Given the description of an element on the screen output the (x, y) to click on. 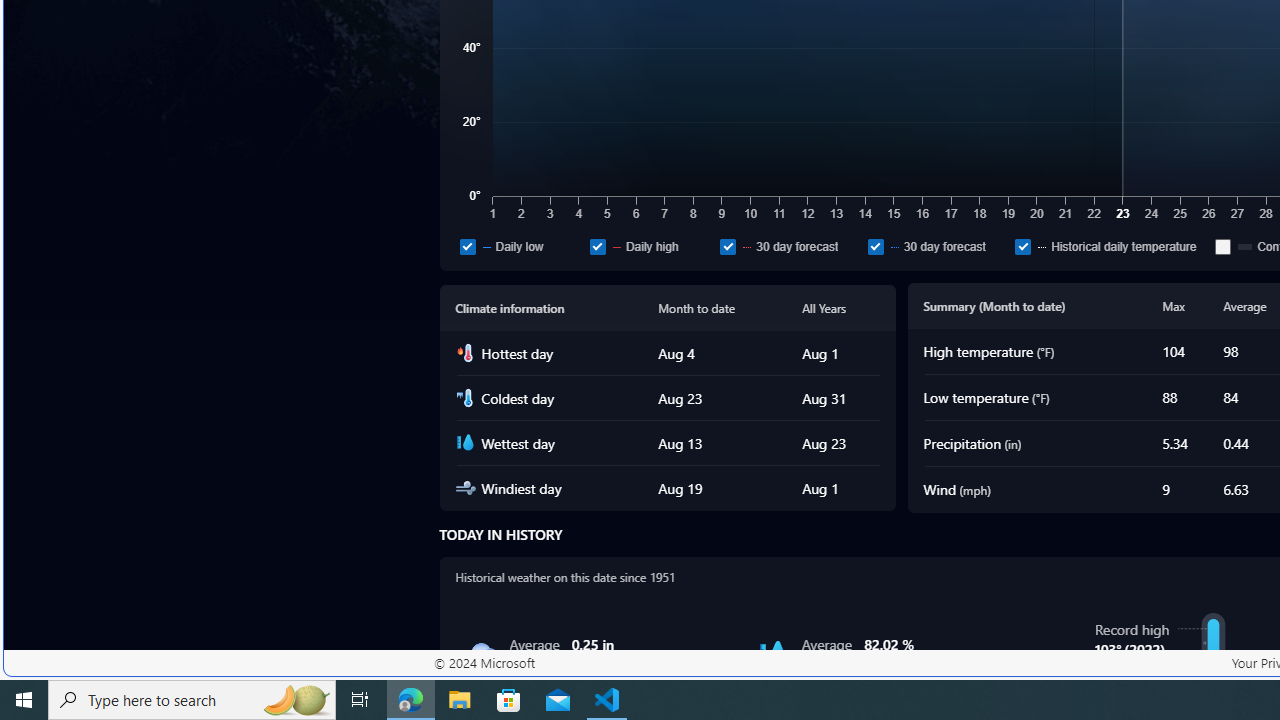
Daily low (467, 246)
Daily high (596, 246)
30 day forecast (937, 246)
Historical daily temperature (1023, 246)
Daily high (650, 246)
Confidence (1222, 246)
30 day forecast (875, 246)
Historical daily temperature (1111, 246)
Daily low (520, 246)
Humidity (772, 654)
Rain (480, 654)
